Given the description of an element on the screen output the (x, y) to click on. 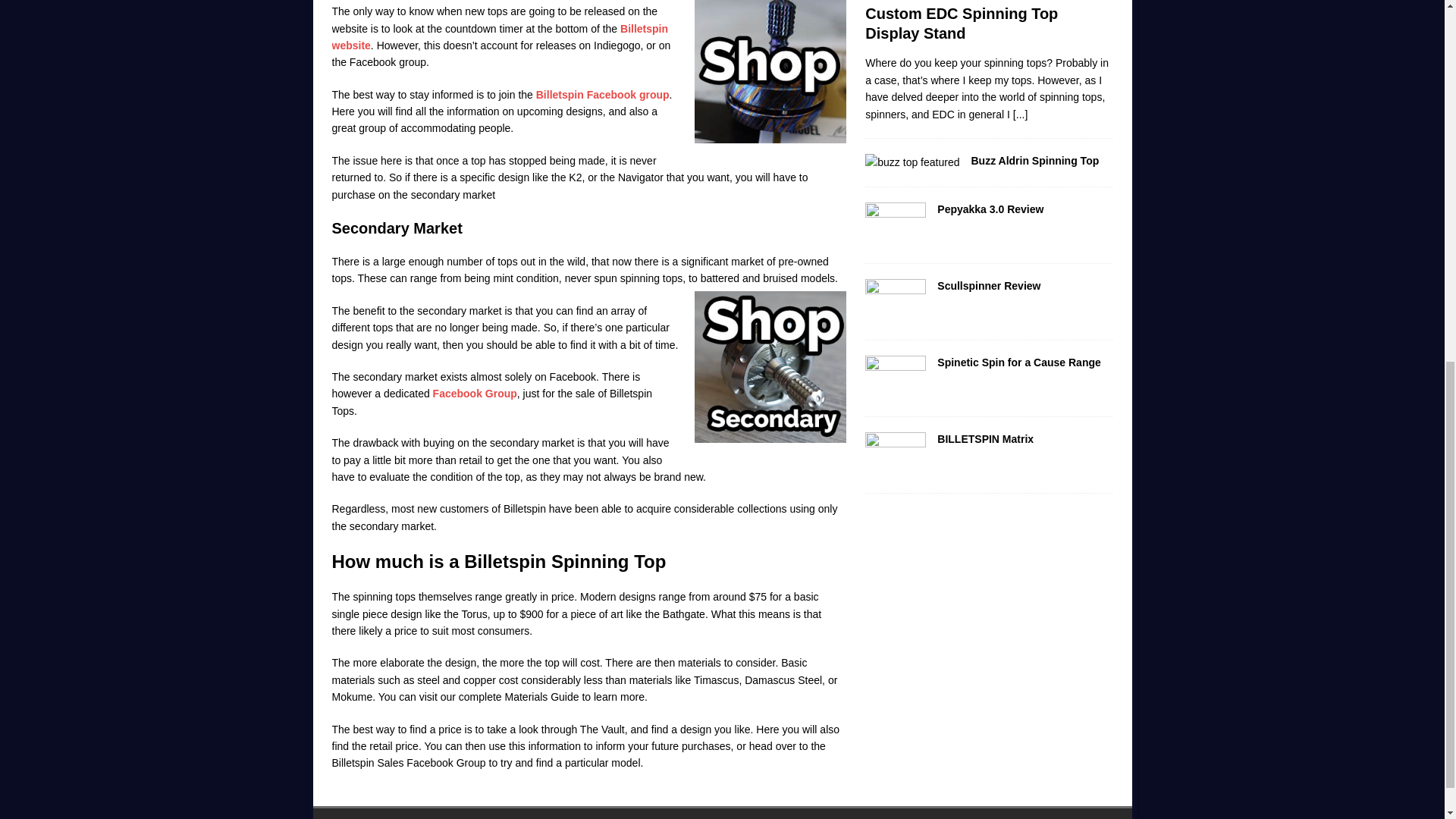
Buzz Aldrin Spinning Top (1035, 160)
Billetspin Facebook group (602, 94)
Custom EDC Spinning Top Display Stand (1020, 114)
Scullspinner Review (895, 301)
Spinetic Spin for a Cause Range (1018, 362)
Facebook Group (474, 393)
BILLETSPIN Matrix (985, 439)
Billetspin website (499, 36)
Spinetic Spin for a Cause Range (895, 378)
Buzz Aldrin Spinning Top (911, 161)
